Given the description of an element on the screen output the (x, y) to click on. 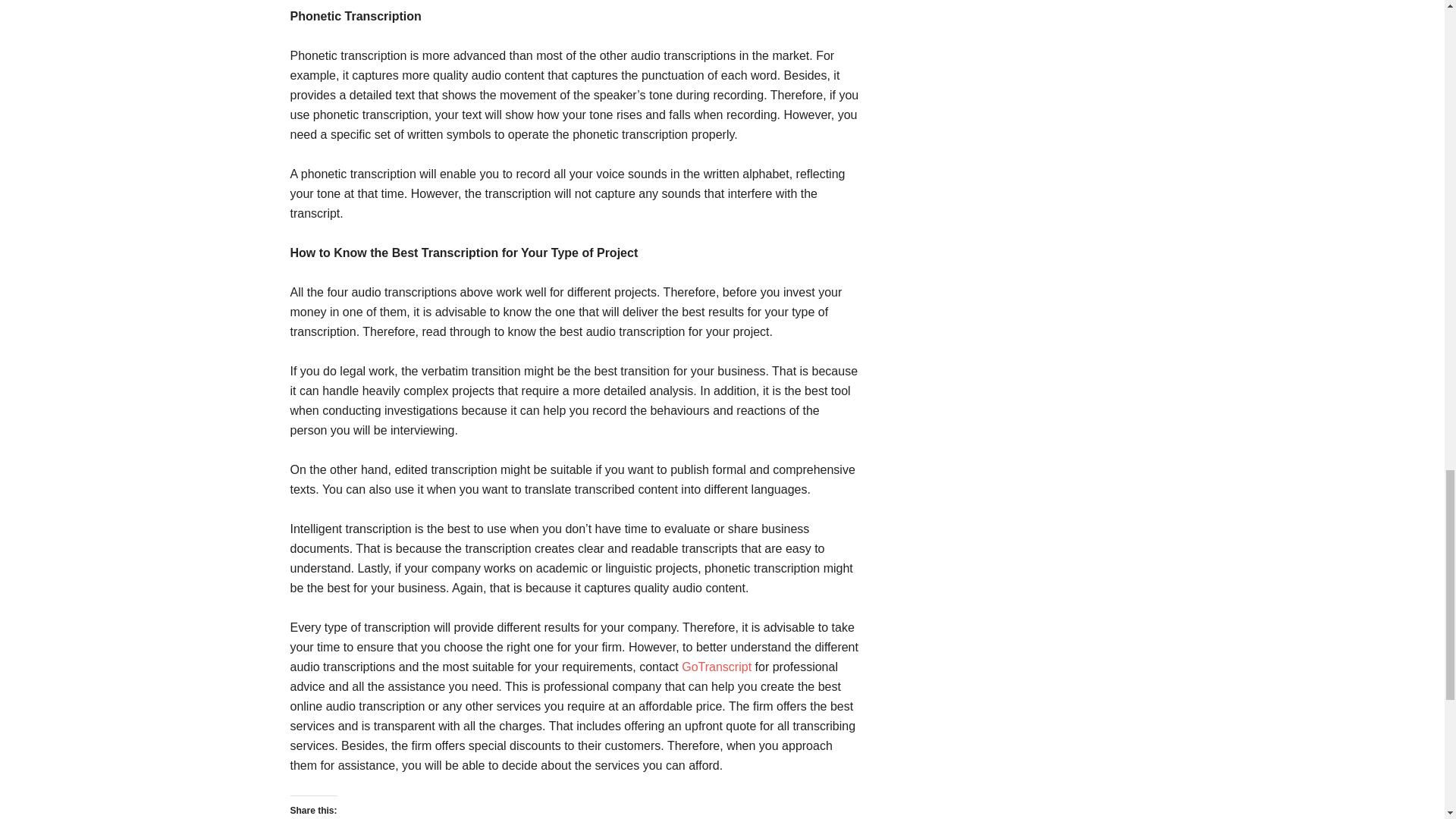
GoTranscript (716, 666)
